Given the description of an element on the screen output the (x, y) to click on. 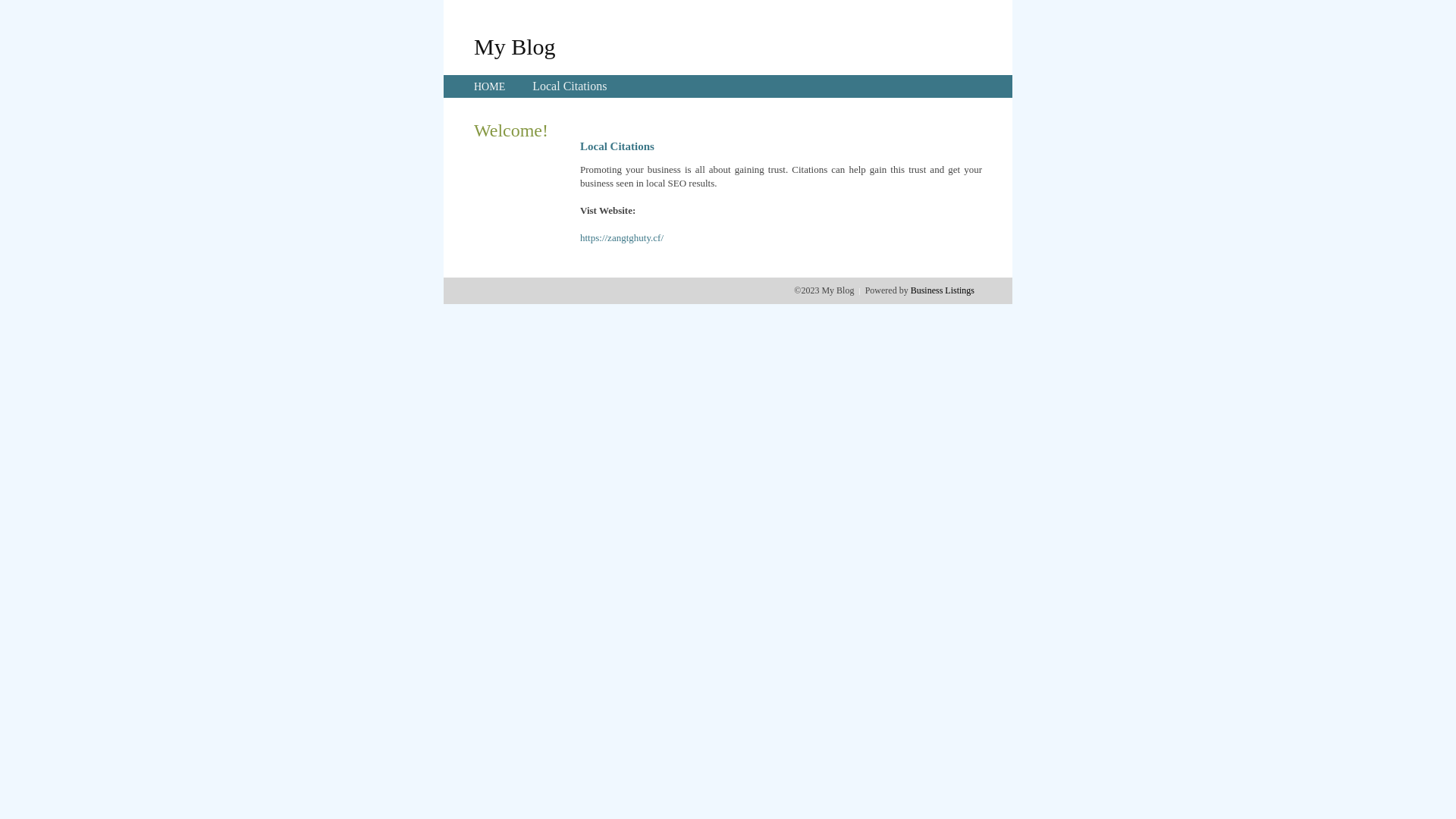
My Blog Element type: text (514, 46)
HOME Element type: text (489, 86)
Business Listings Element type: text (942, 290)
https://zangtghuty.cf/ Element type: text (621, 237)
Local Citations Element type: text (569, 85)
